Given the description of an element on the screen output the (x, y) to click on. 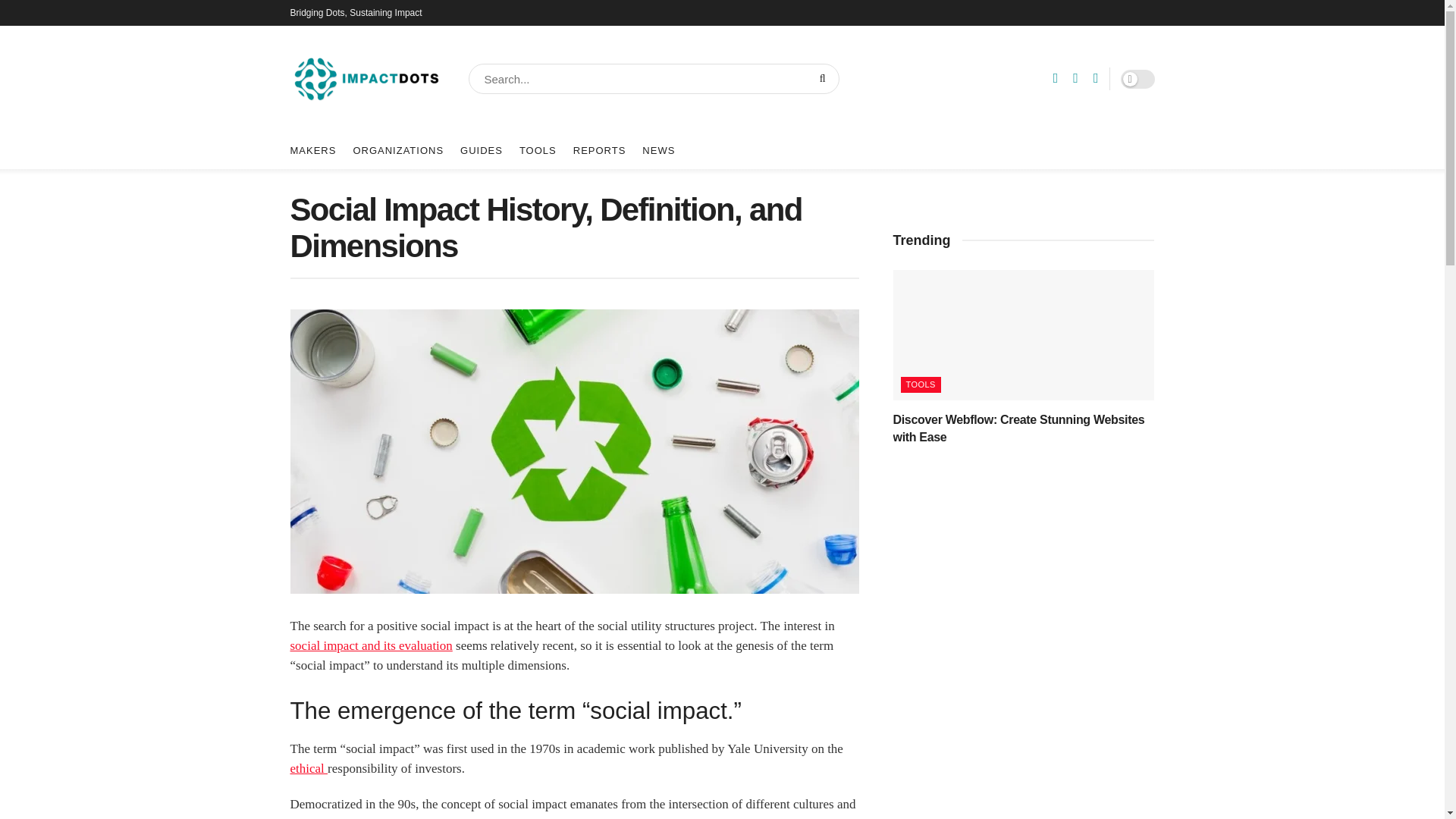
REPORTS (599, 149)
ethical (308, 768)
TOOLS (537, 149)
social impact and its evaluation (370, 645)
GUIDES (481, 149)
MAKERS (312, 149)
ORGANIZATIONS (398, 149)
